Given the description of an element on the screen output the (x, y) to click on. 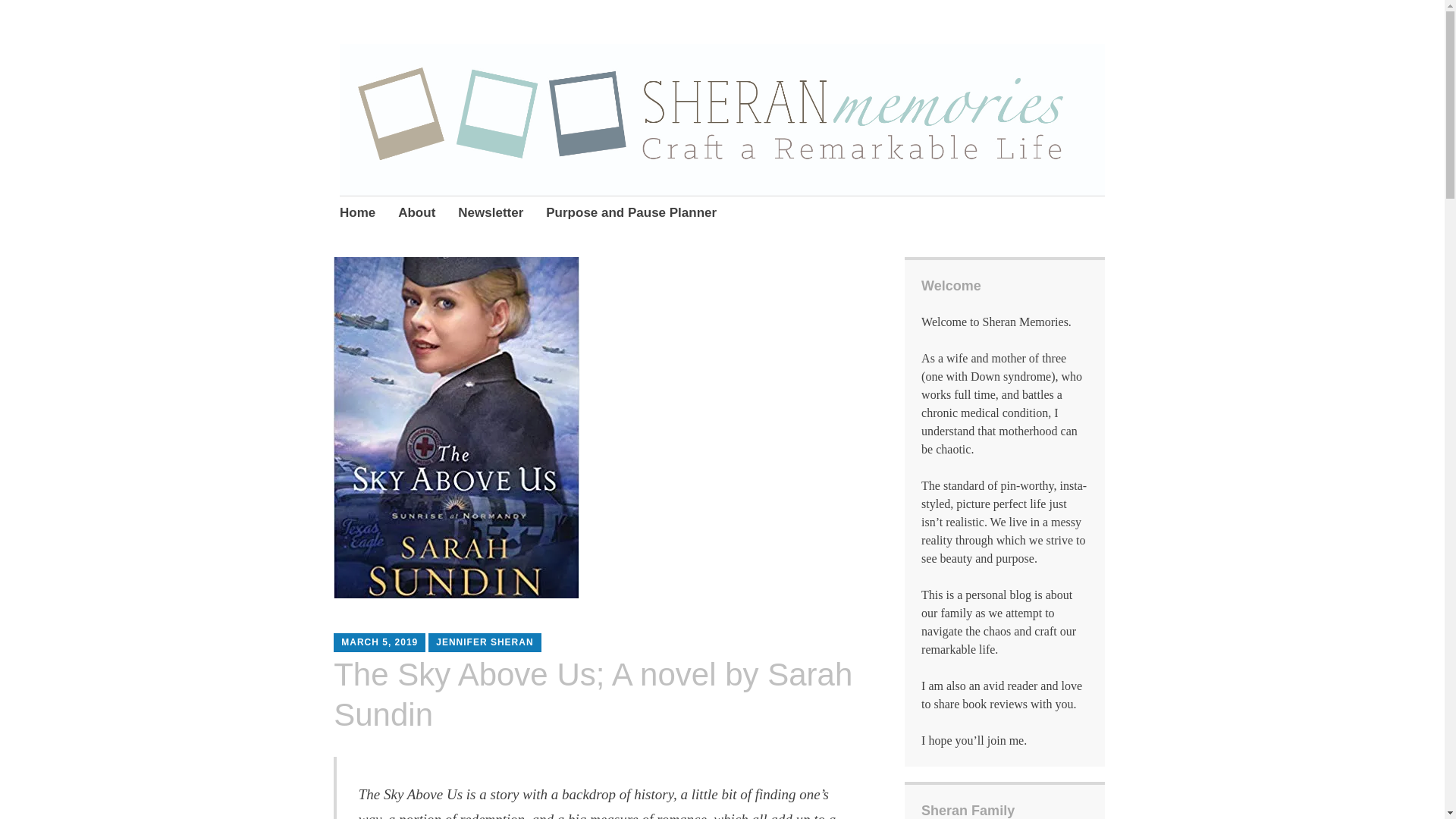
Sheran Memories (479, 100)
Newsletter (490, 214)
Purpose and Pause Planner (631, 214)
MARCH 5, 2019 (378, 642)
JENNIFER SHERAN (483, 642)
Home (357, 214)
About (416, 214)
